Given the description of an element on the screen output the (x, y) to click on. 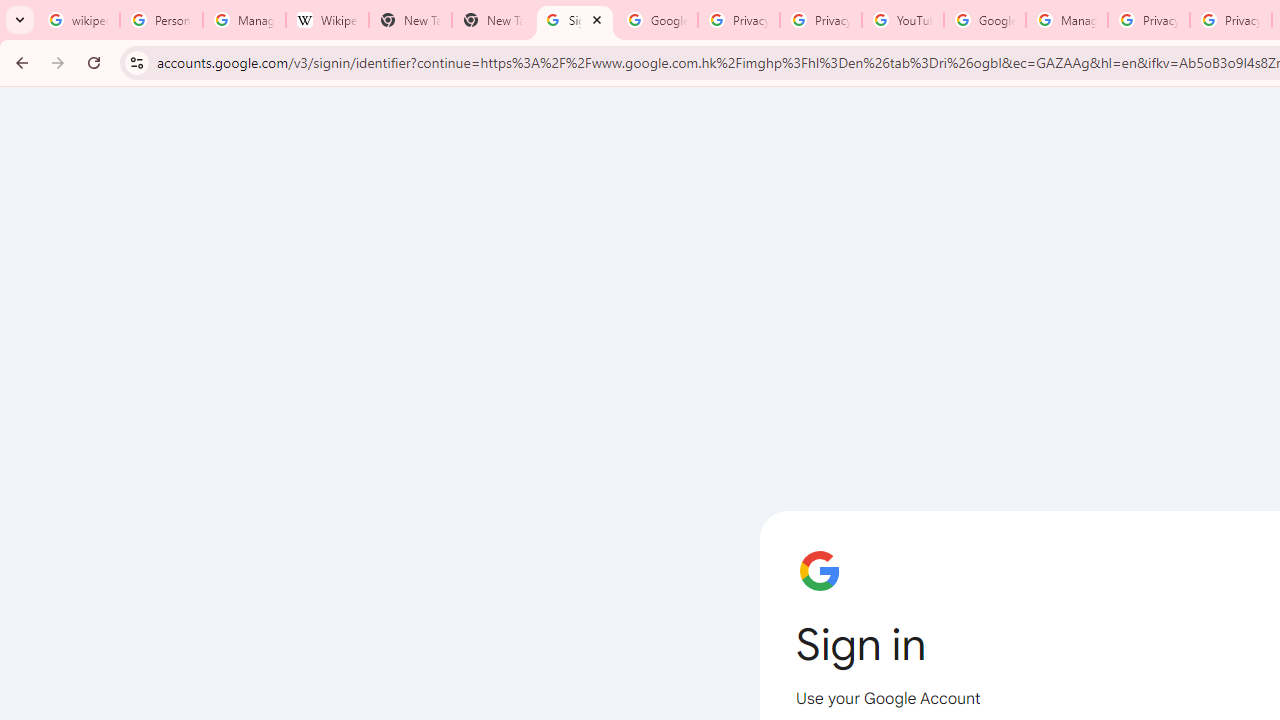
Wikipedia:Edit requests - Wikipedia (326, 20)
Manage your Location History - Google Search Help (244, 20)
New Tab (492, 20)
Google Account Help (984, 20)
Google Drive: Sign-in (656, 20)
